Given the description of an element on the screen output the (x, y) to click on. 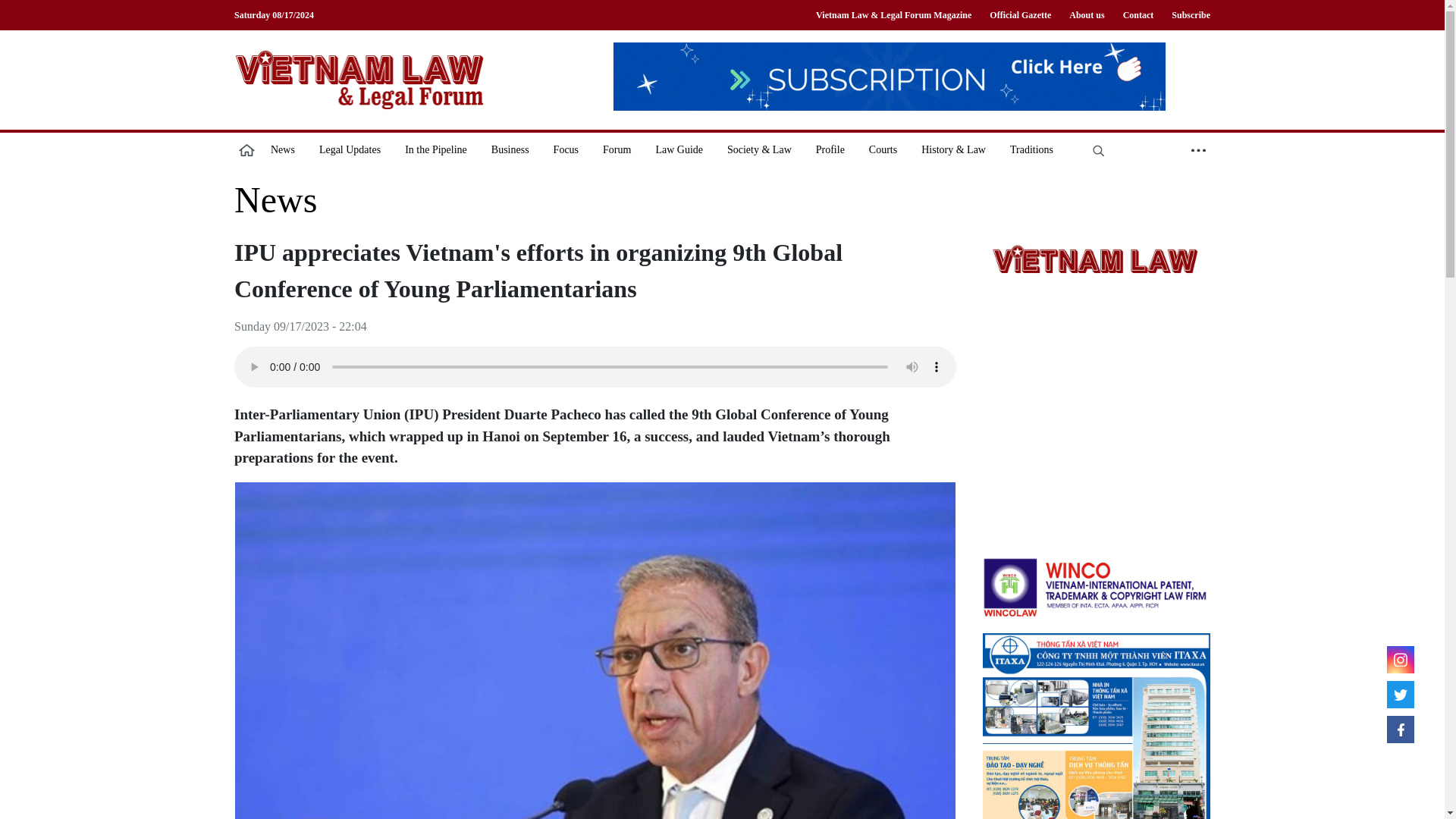
Traditions (1031, 149)
home (246, 149)
About us (1086, 15)
Business (510, 149)
Focus (566, 149)
Contact (1138, 15)
icon search (1098, 149)
Legal Updates (350, 149)
humburger (1197, 149)
Profile (830, 149)
